Given the description of an element on the screen output the (x, y) to click on. 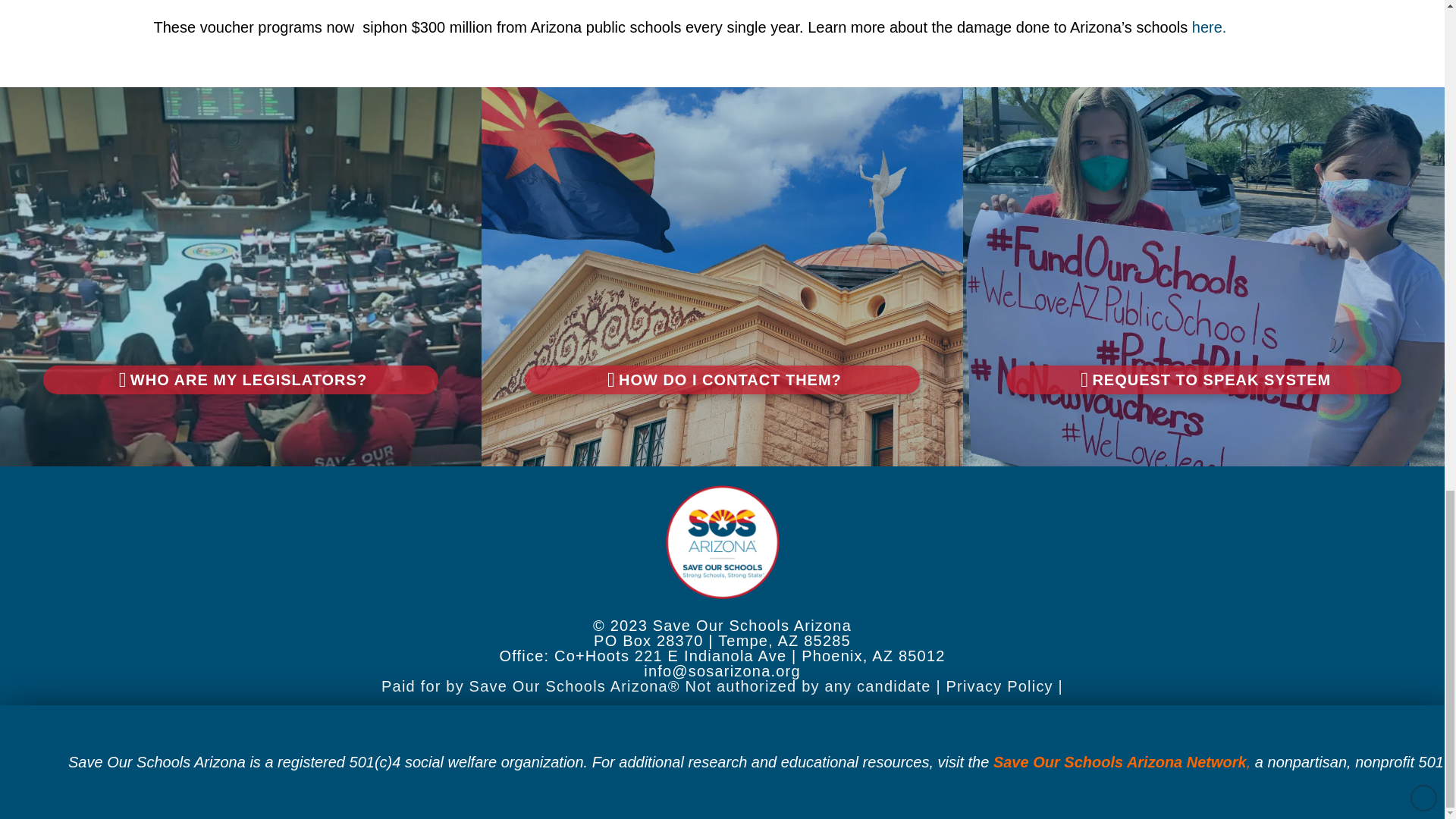
here. (1209, 27)
HOW DO I CONTACT THEM? (722, 379)
WHO ARE MY LEGISLATORS? (240, 379)
